Given the description of an element on the screen output the (x, y) to click on. 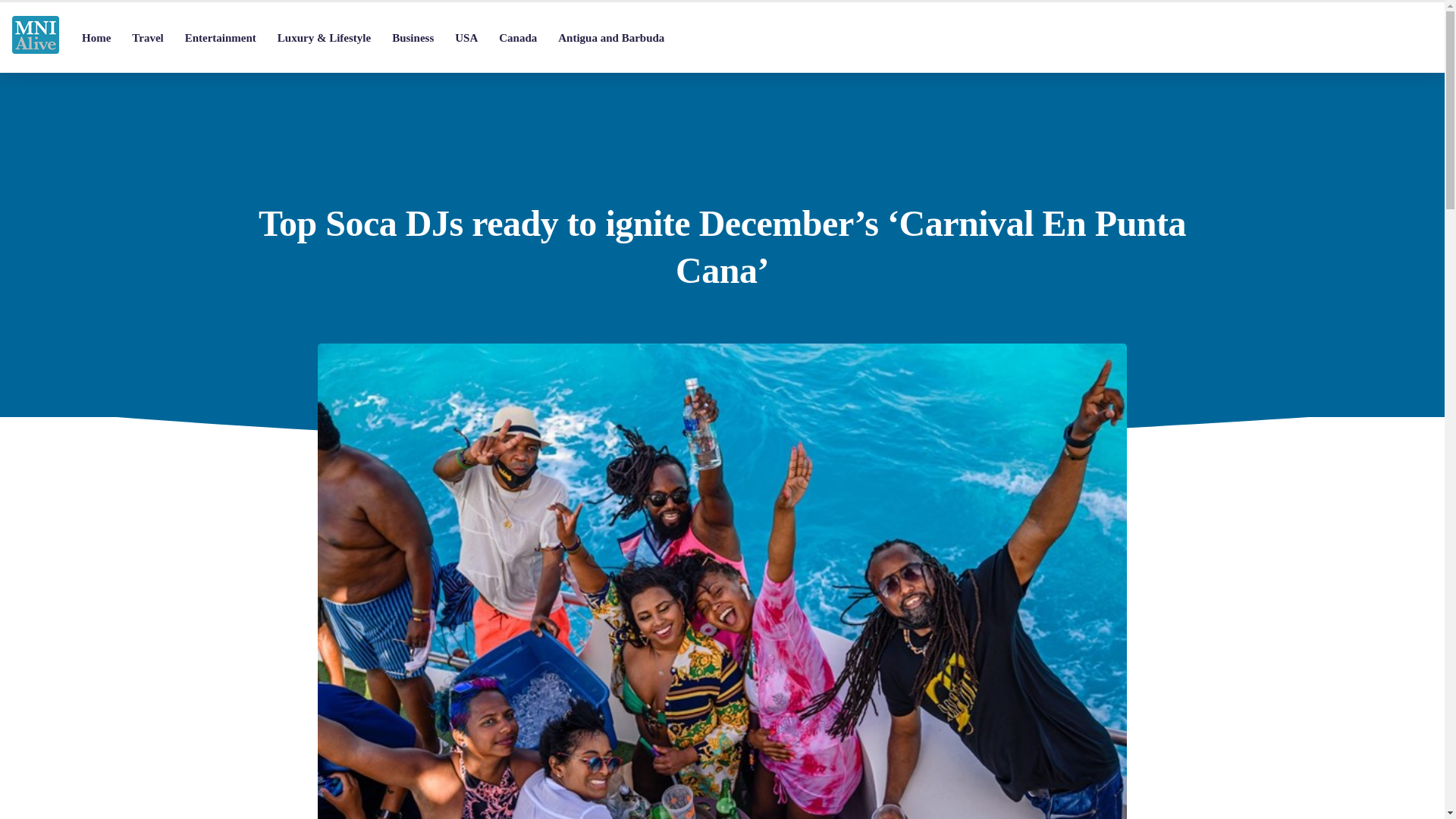
Business (412, 37)
USA (465, 37)
Antigua and Barbuda (611, 37)
Home (95, 37)
Canada (517, 37)
Entertainment (220, 37)
Travel (146, 37)
